Given the description of an element on the screen output the (x, y) to click on. 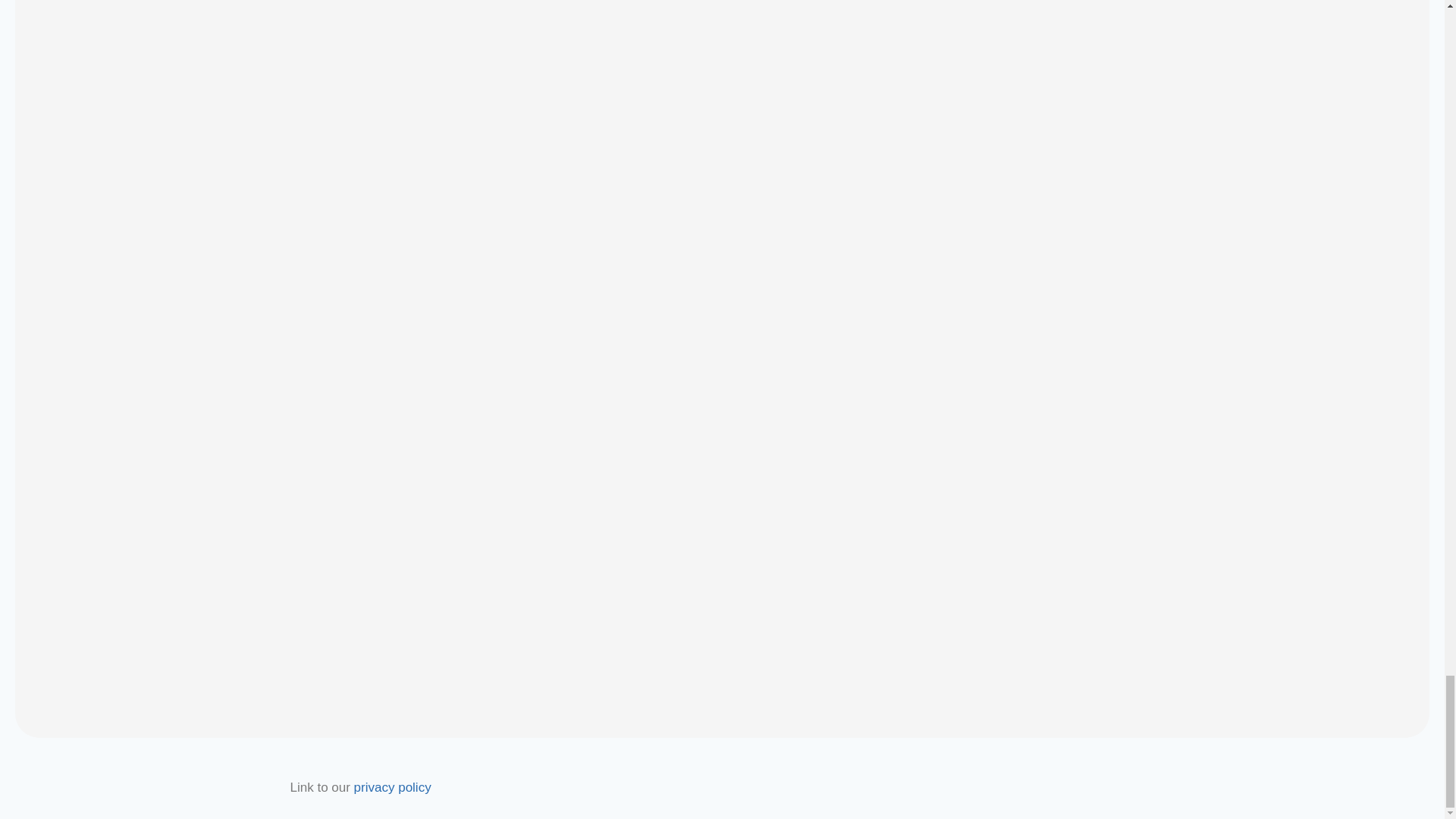
privacy policy (391, 787)
